Given the description of an element on the screen output the (x, y) to click on. 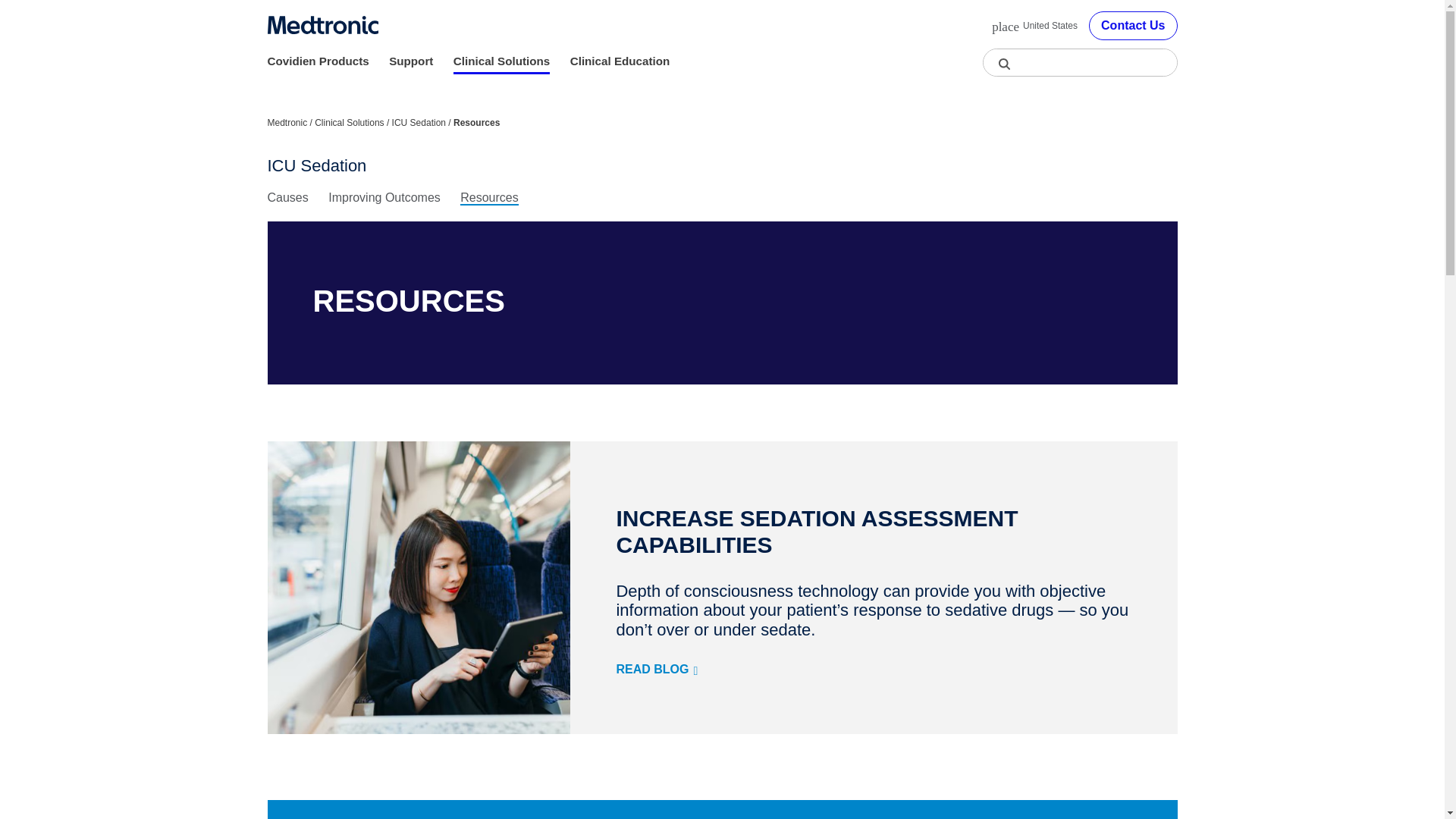
Contact Us (1132, 25)
Insert a query. Press enter to send (1079, 62)
Covidien Products (317, 60)
